Given the description of an element on the screen output the (x, y) to click on. 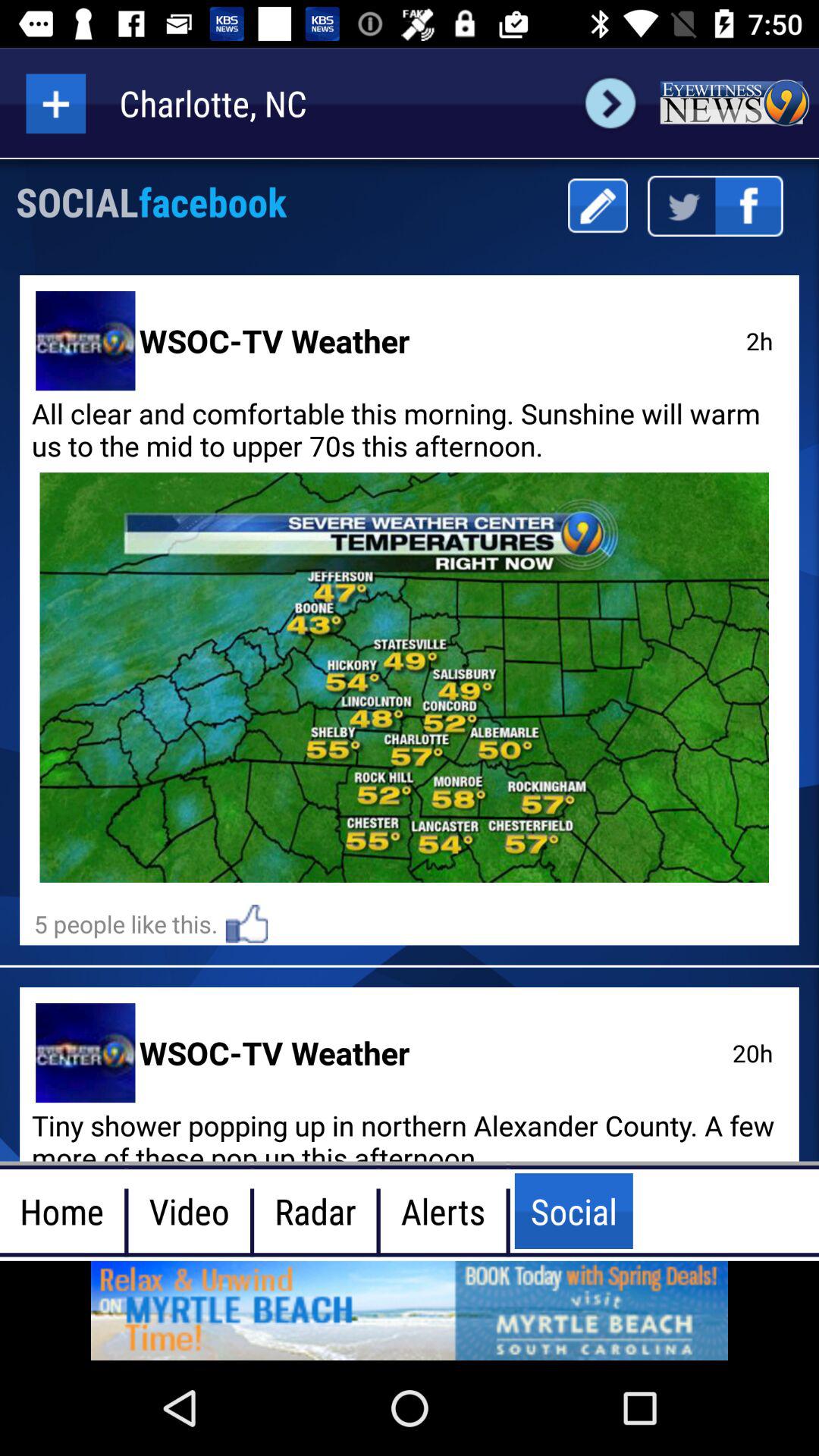
go to add button (55, 103)
